Given the description of an element on the screen output the (x, y) to click on. 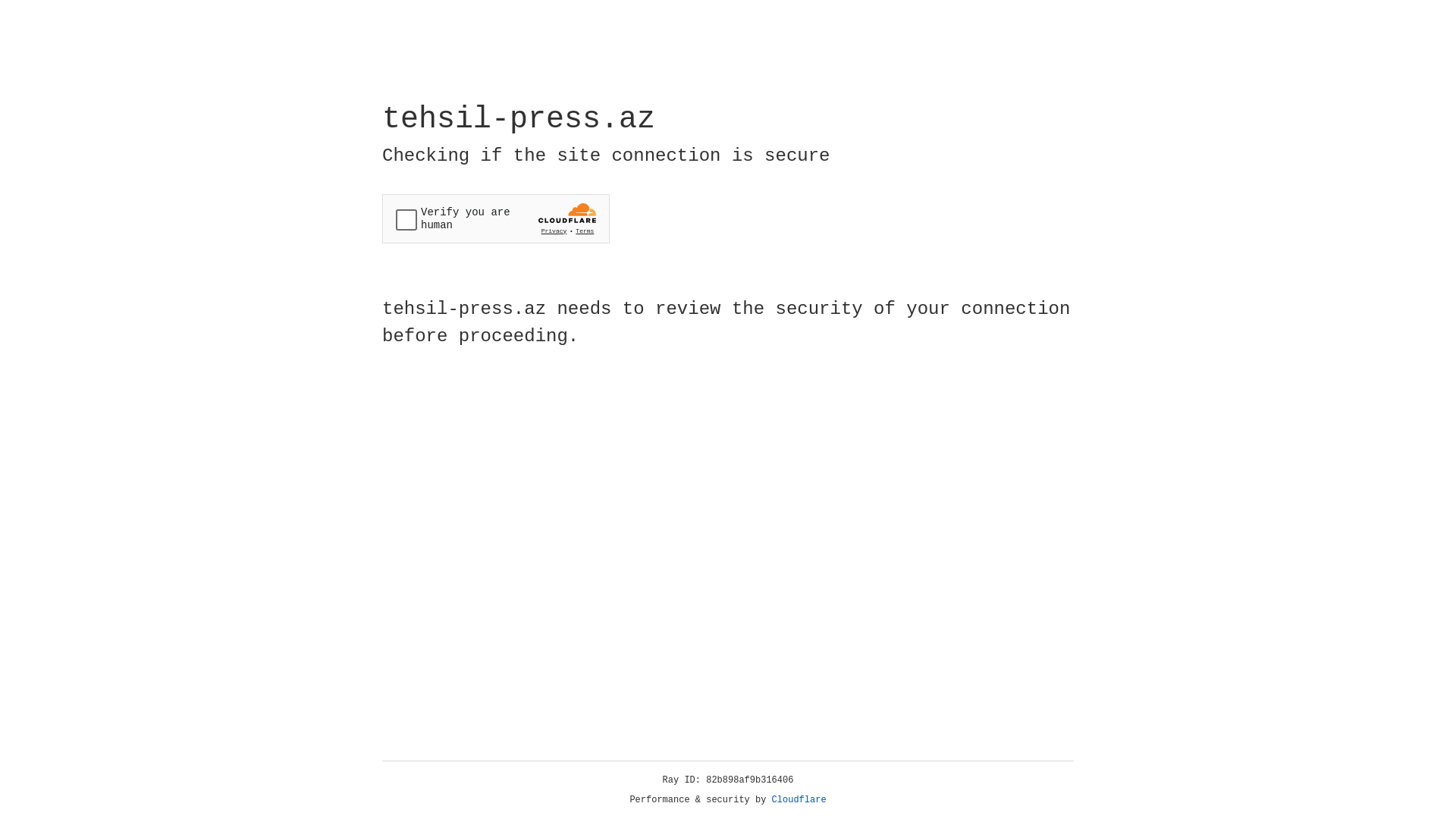
Widget containing a Cloudflare security challenge Element type: hover (495, 218)
Cloudflare Element type: text (798, 799)
